Given the description of an element on the screen output the (x, y) to click on. 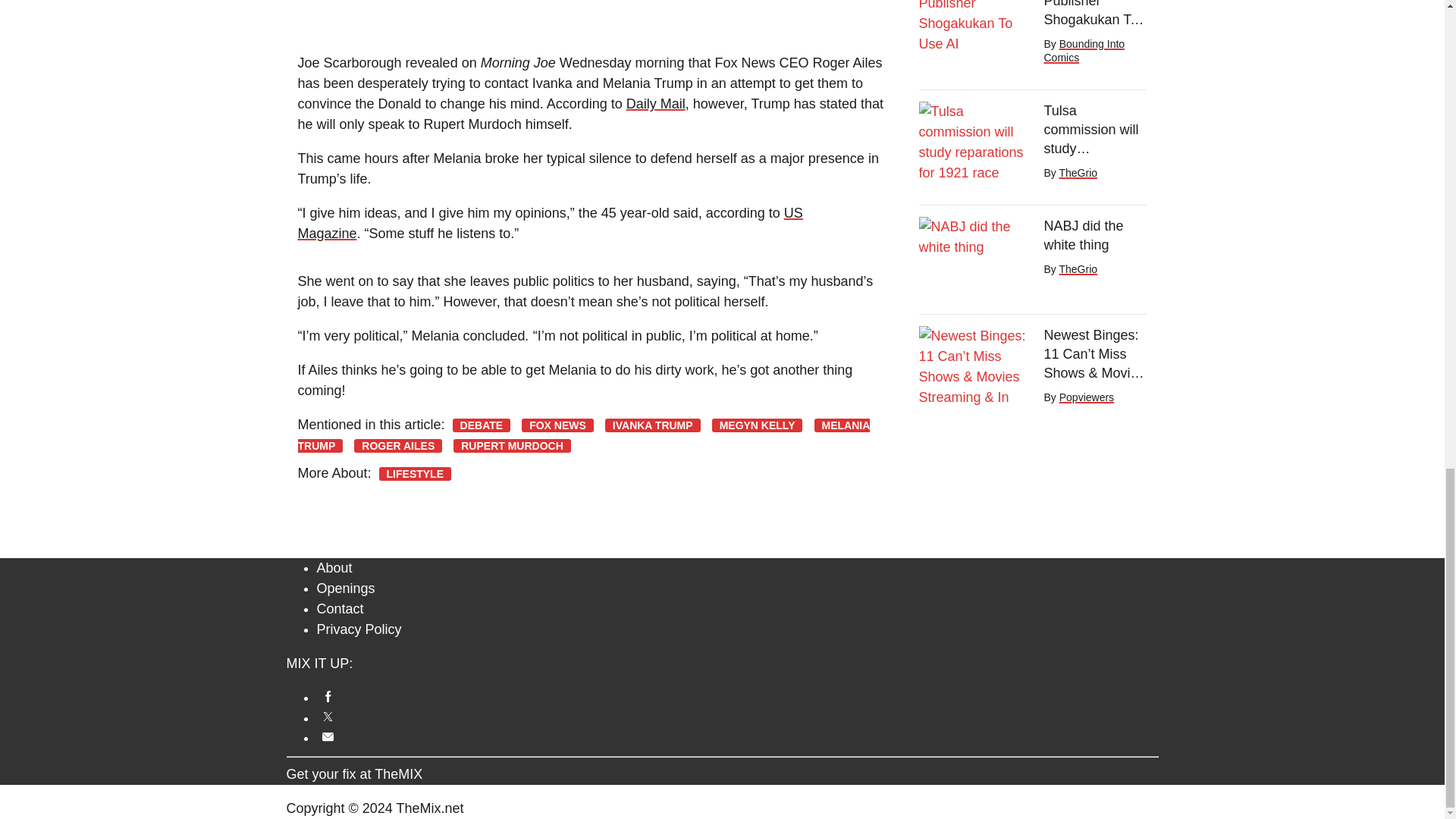
RUPERT MURDOCH (511, 445)
Send us an email (737, 736)
MELANIA TRUMP (583, 435)
Follow us on Facebook (737, 696)
MEGYN KELLY (757, 425)
Daily Mail (655, 103)
FOX NEWS (557, 425)
LIFESTYLE (414, 473)
US Magazine (549, 222)
DEBATE (481, 425)
Follow us on Twitter (737, 716)
IVANKA TRUMP (652, 425)
ROGER AILES (397, 445)
